Given the description of an element on the screen output the (x, y) to click on. 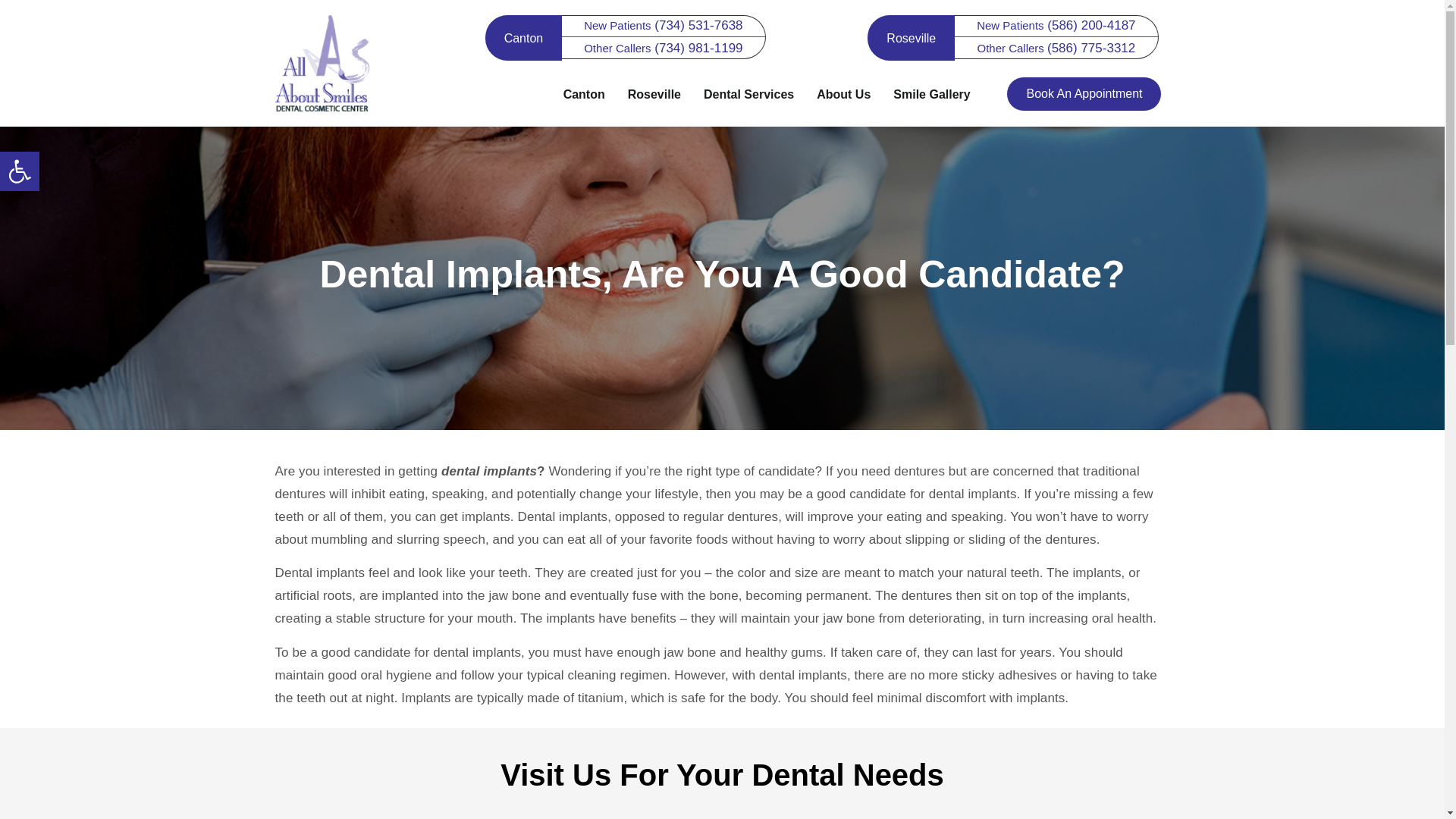
Accessibility Tools (19, 170)
Smile Gallery (931, 94)
Canton (523, 37)
Accessibility Tools (19, 170)
About Us (843, 94)
Canton (583, 94)
Roseville (910, 37)
Roseville (654, 94)
Dental Services (749, 94)
